Given the description of an element on the screen output the (x, y) to click on. 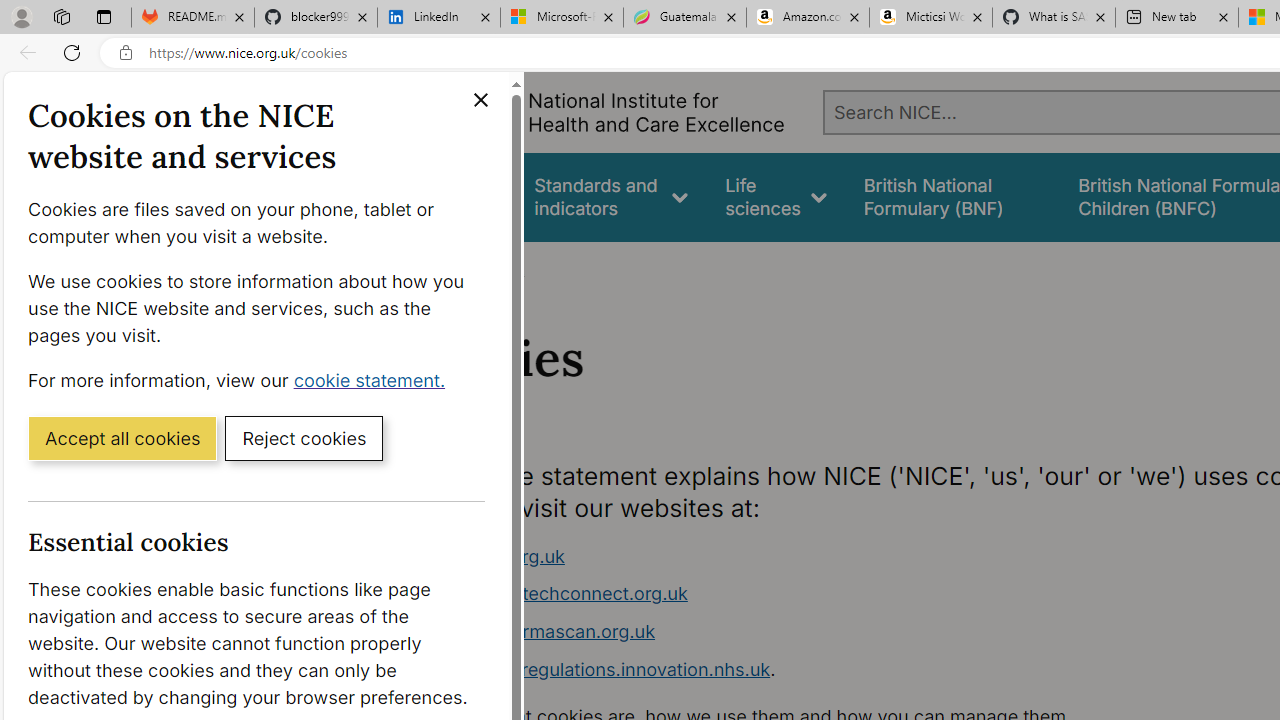
Close cookie banner (480, 99)
www.digitalregulations.innovation.nhs.uk. (796, 669)
www.ukpharmascan.org.uk (796, 632)
Home> (433, 268)
false (952, 196)
